Given the description of an element on the screen output the (x, y) to click on. 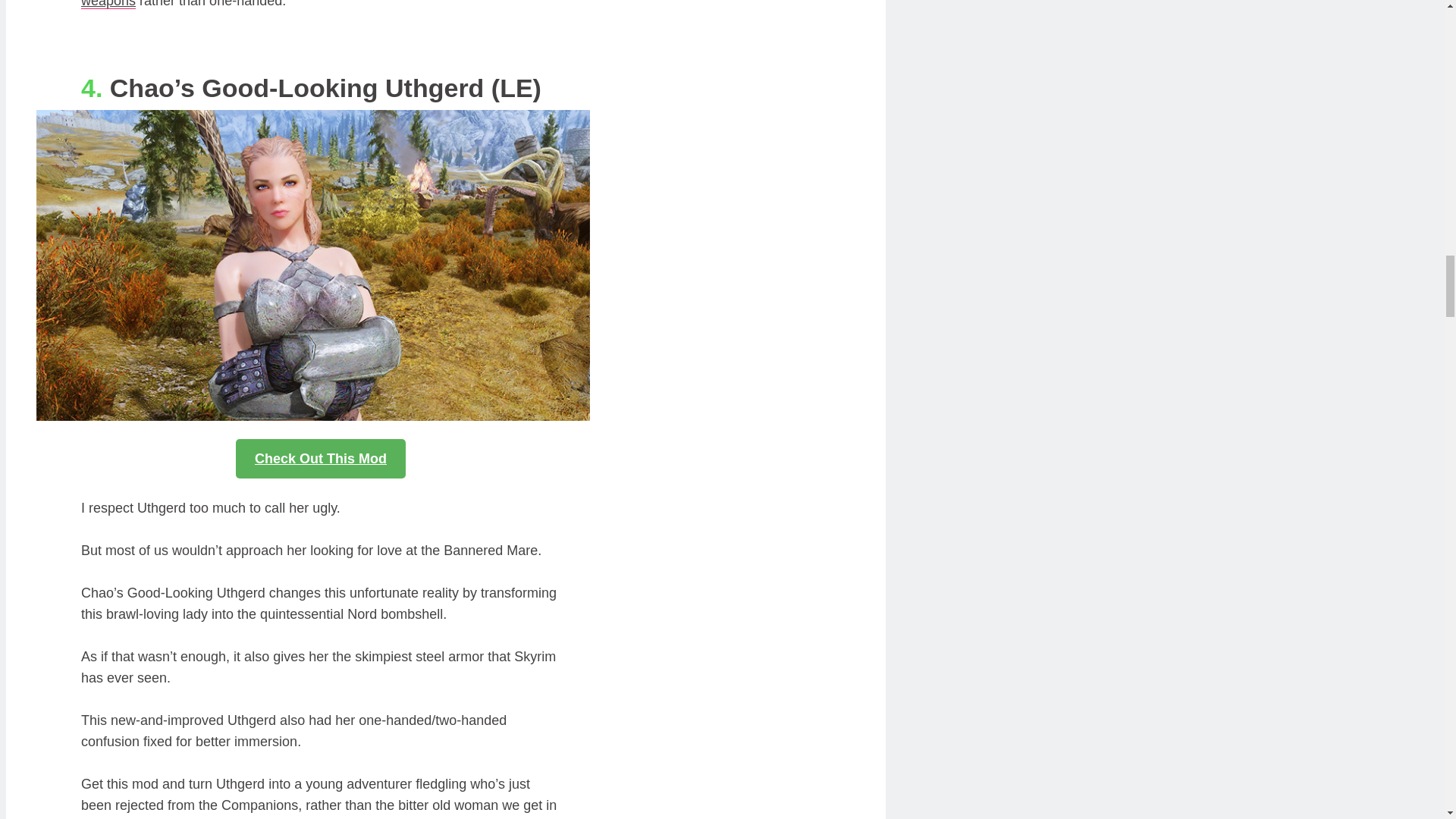
Check Out This Mod (320, 458)
with two-handed weapons (314, 4)
